Given the description of an element on the screen output the (x, y) to click on. 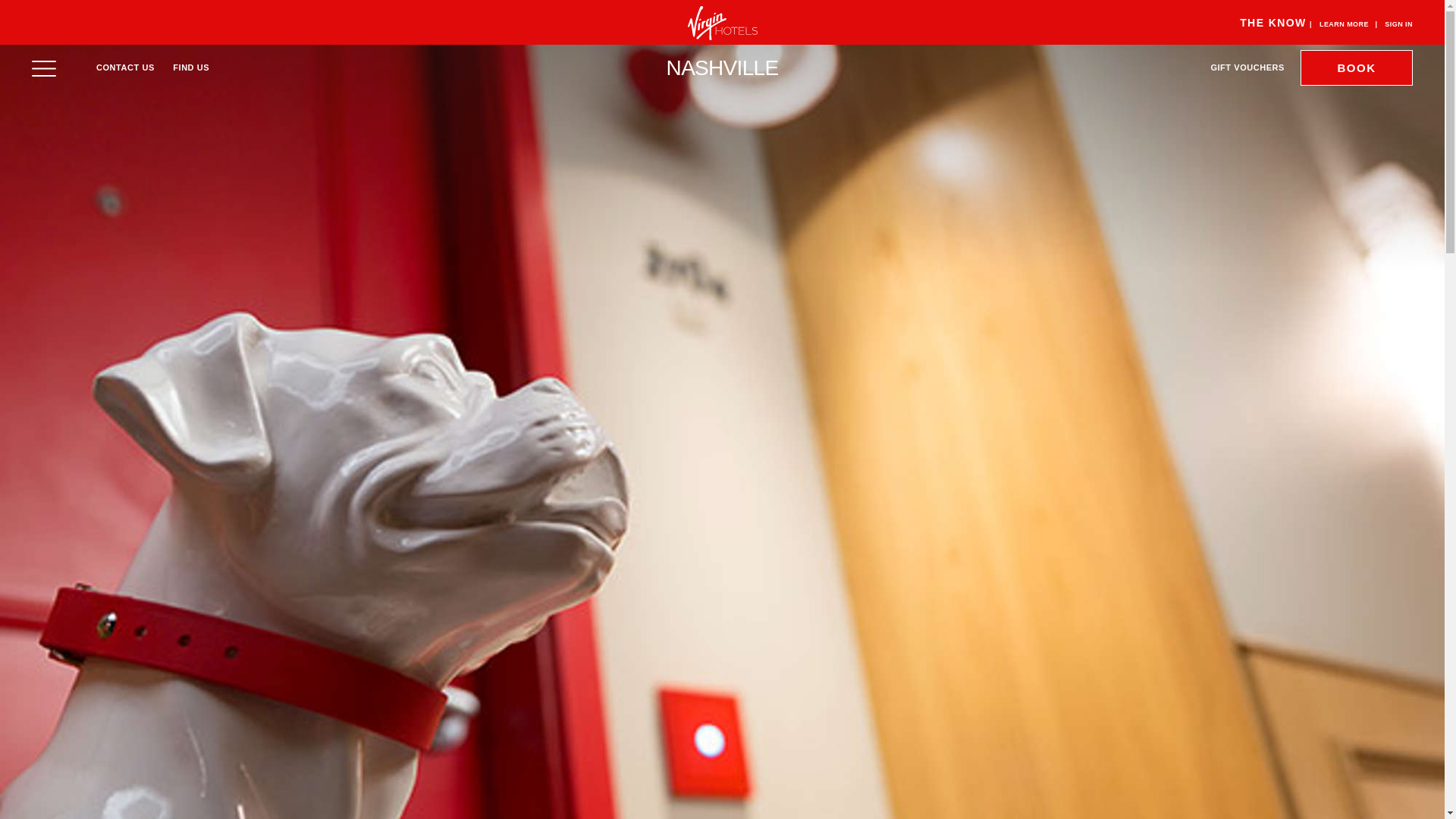
NASHVILLE (722, 67)
GIFT VOUCHERS (1246, 67)
FIND US (191, 67)
LEARN MORE (1343, 23)
SIGN IN (1398, 23)
CONTACT US (125, 67)
